Given the description of an element on the screen output the (x, y) to click on. 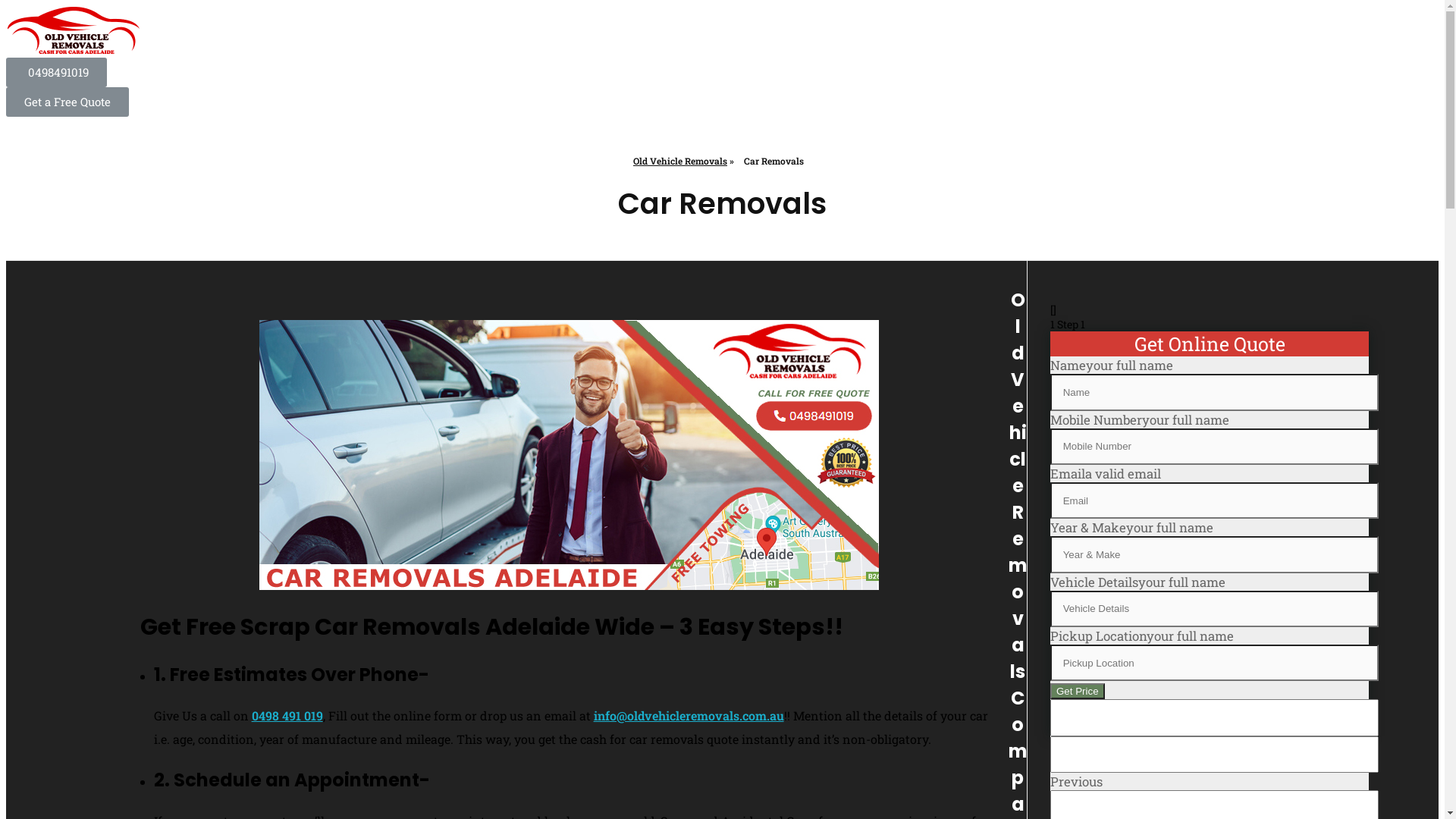
info@oldvehicleremovals.com.au Element type: text (688, 715)
Old Vehicle Removals Element type: text (680, 160)
Old Vehicle Removal Adelaide Element type: hover (73, 31)
0498491019 Element type: text (56, 72)
0498 491 019 Element type: text (287, 715)
Get Price Element type: text (1077, 691)
Old Vehicle Removal Adelaide Element type: text (134, 66)
Get a Free Quote Element type: text (67, 101)
